Given the description of an element on the screen output the (x, y) to click on. 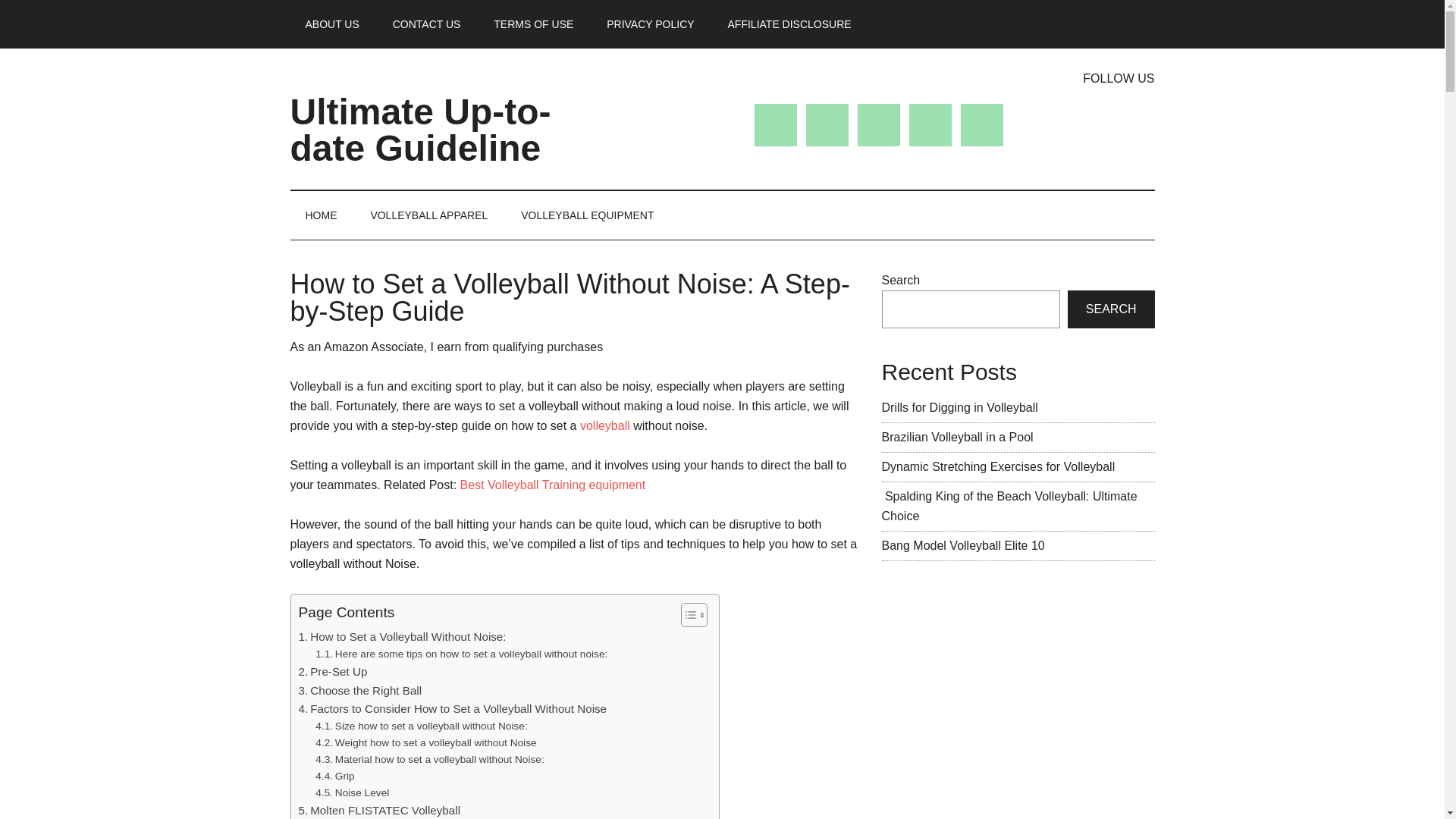
ABOUT US (331, 24)
Pre-Set Up (333, 671)
CONTACT US (426, 24)
Noise Level (351, 792)
Noise Level (351, 792)
How to Set a Volleyball Without Noise: (402, 637)
Best Volleyball Training equipment (553, 484)
Here are some tips on how to set a volleyball without noise: (461, 654)
Molten FLISTATEC Volleyball (379, 810)
TERMS OF USE (533, 24)
